Given the description of an element on the screen output the (x, y) to click on. 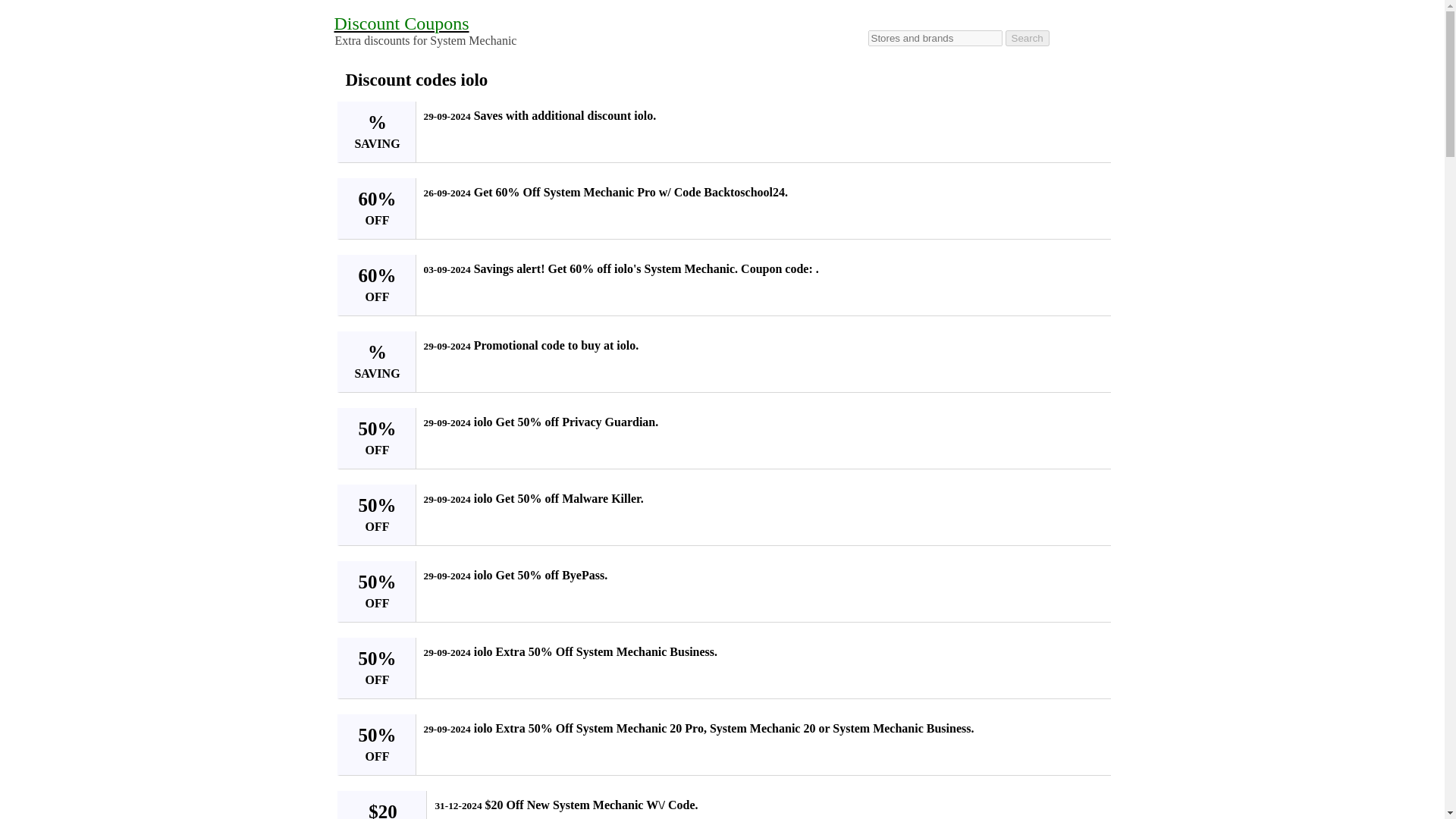
Discount Coupons (400, 23)
View code (1088, 352)
View code (1088, 658)
View code (1089, 808)
Search (1027, 37)
View code (1088, 582)
View code (1088, 735)
View code (1088, 275)
View code (1088, 122)
View code (1088, 505)
